Given the description of an element on the screen output the (x, y) to click on. 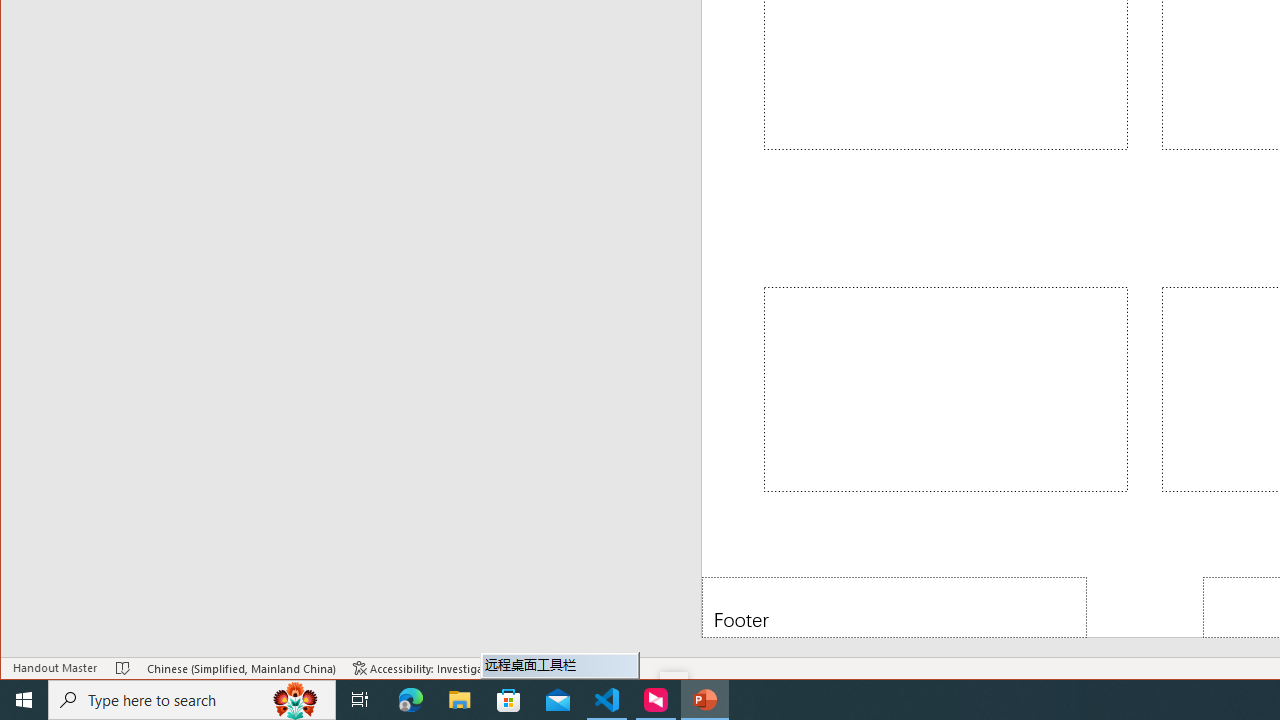
Microsoft Edge (411, 699)
PowerPoint - 1 running window (704, 699)
Task View (359, 699)
Footer (893, 606)
Microsoft Store (509, 699)
Visual Studio Code - 1 running window (607, 699)
Search highlights icon opens search home window (295, 699)
Type here to search (191, 699)
Start (24, 699)
File Explorer (460, 699)
